Given the description of an element on the screen output the (x, y) to click on. 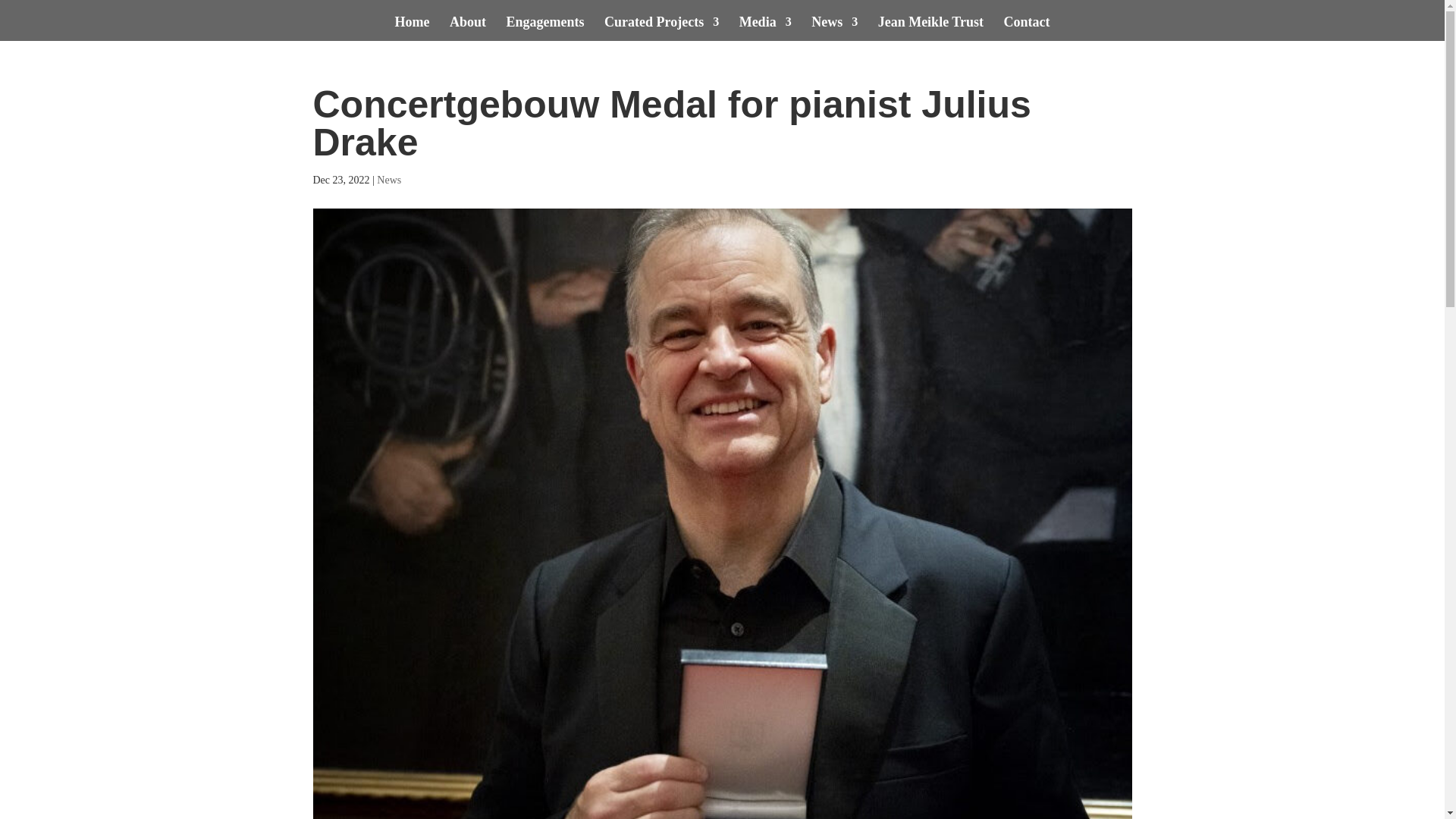
News (389, 179)
Curated Projects (661, 28)
Media (765, 28)
News (833, 28)
Engagements (545, 28)
Contact (1026, 28)
Home (411, 28)
Jean Meikle Trust (930, 28)
About (467, 28)
